Given the description of an element on the screen output the (x, y) to click on. 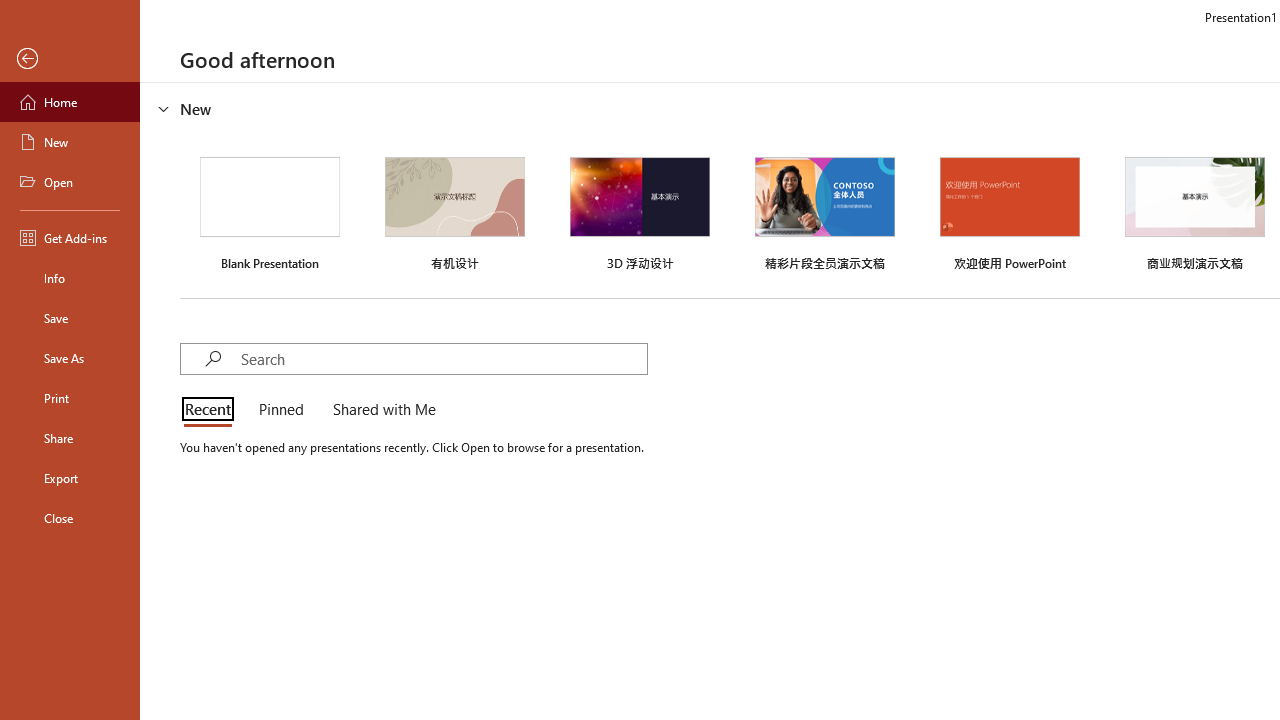
Pinned (280, 410)
Close (69, 517)
Get Add-ins (69, 237)
Hide or show region (164, 108)
Back (69, 59)
Save (69, 317)
Recent (212, 410)
Blank Presentation (269, 211)
Info (69, 277)
Save As (69, 357)
